Given the description of an element on the screen output the (x, y) to click on. 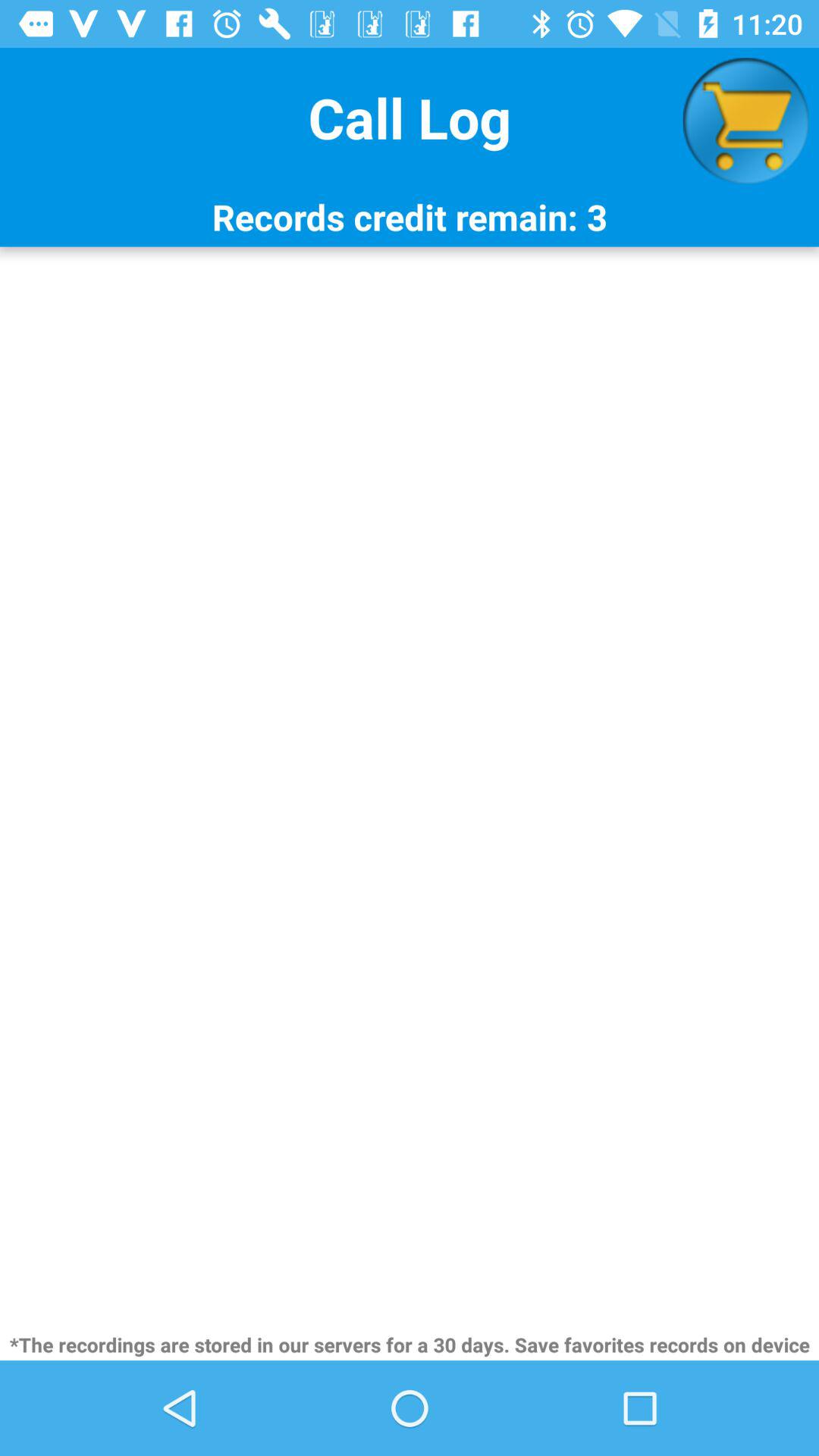
open item above the records credit remain icon (745, 120)
